Given the description of an element on the screen output the (x, y) to click on. 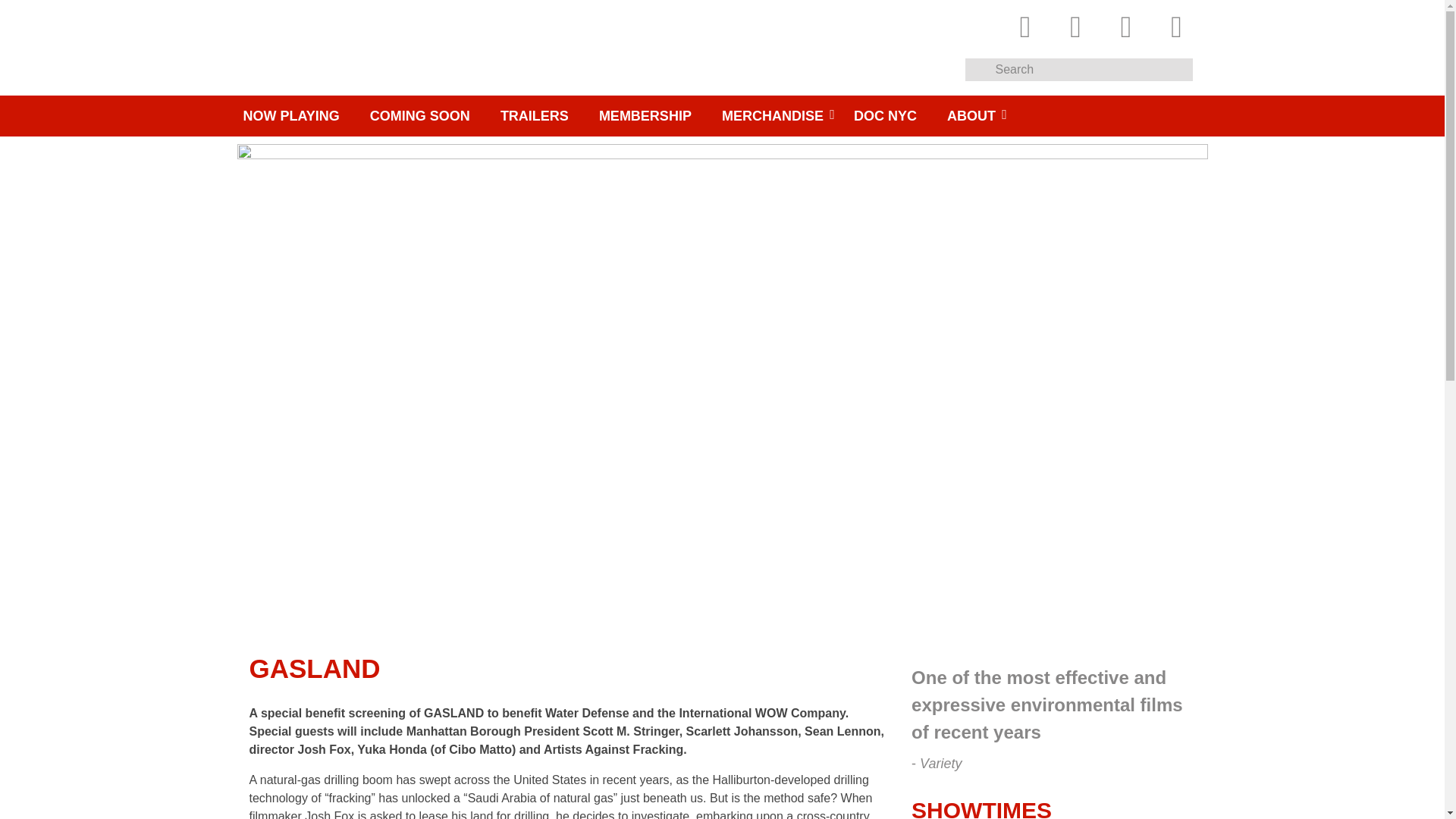
Subscribe to email (1172, 23)
MEMBERSHIP (644, 115)
Instagram (1126, 23)
Search (1093, 69)
ABOUT (970, 115)
NOW PLAYING (298, 115)
DOC NYC (884, 115)
MERCHANDISE (772, 115)
Search (977, 69)
COMING SOON (419, 115)
